Given the description of an element on the screen output the (x, y) to click on. 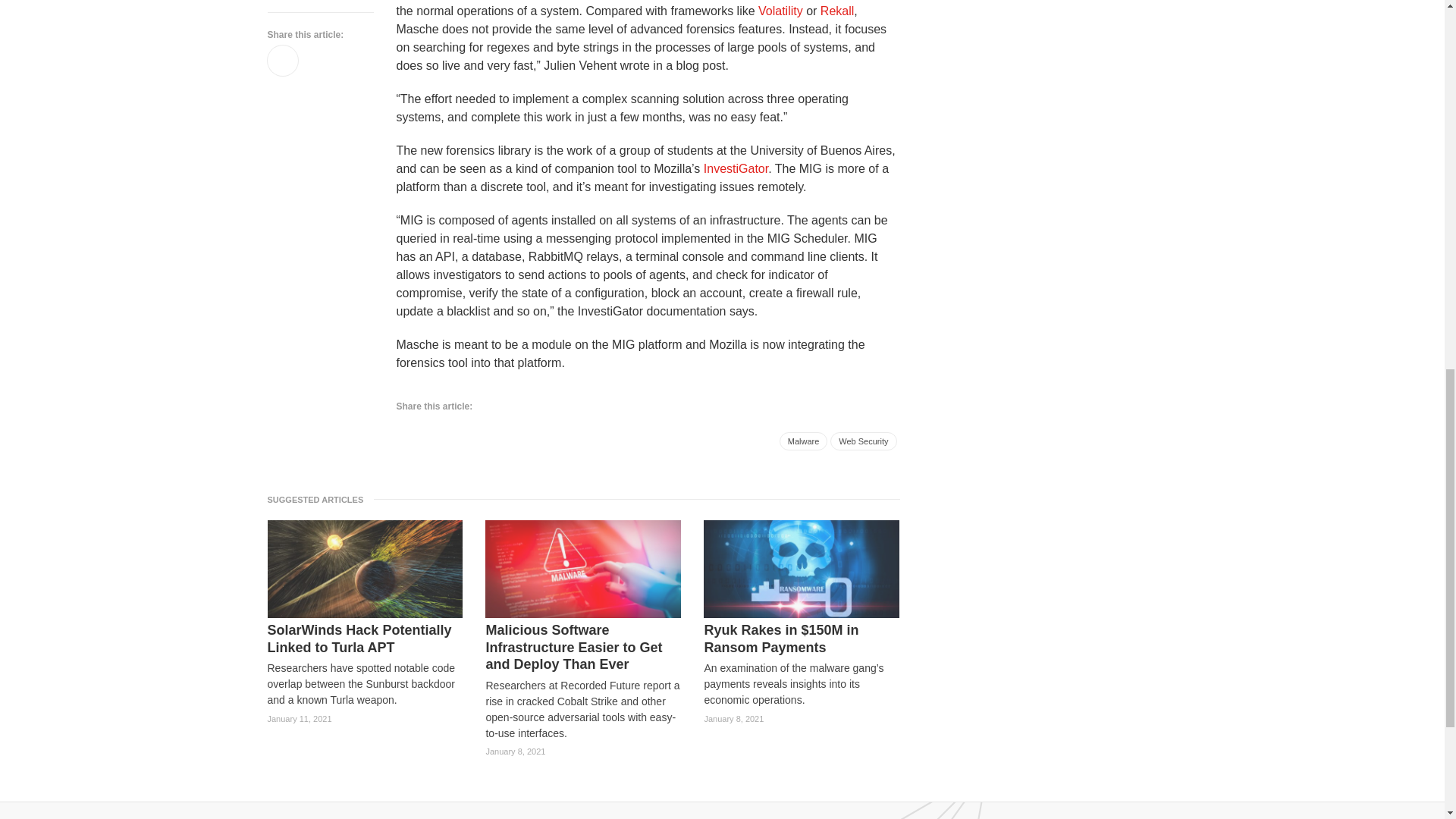
Volatility (780, 10)
SolarWinds Hack Potentially Linked to Turla APT (364, 638)
Rekall (837, 10)
InvestiGator (735, 168)
Malware (803, 441)
Web Security (862, 441)
SUGGESTED ARTICLES (319, 499)
